Given the description of an element on the screen output the (x, y) to click on. 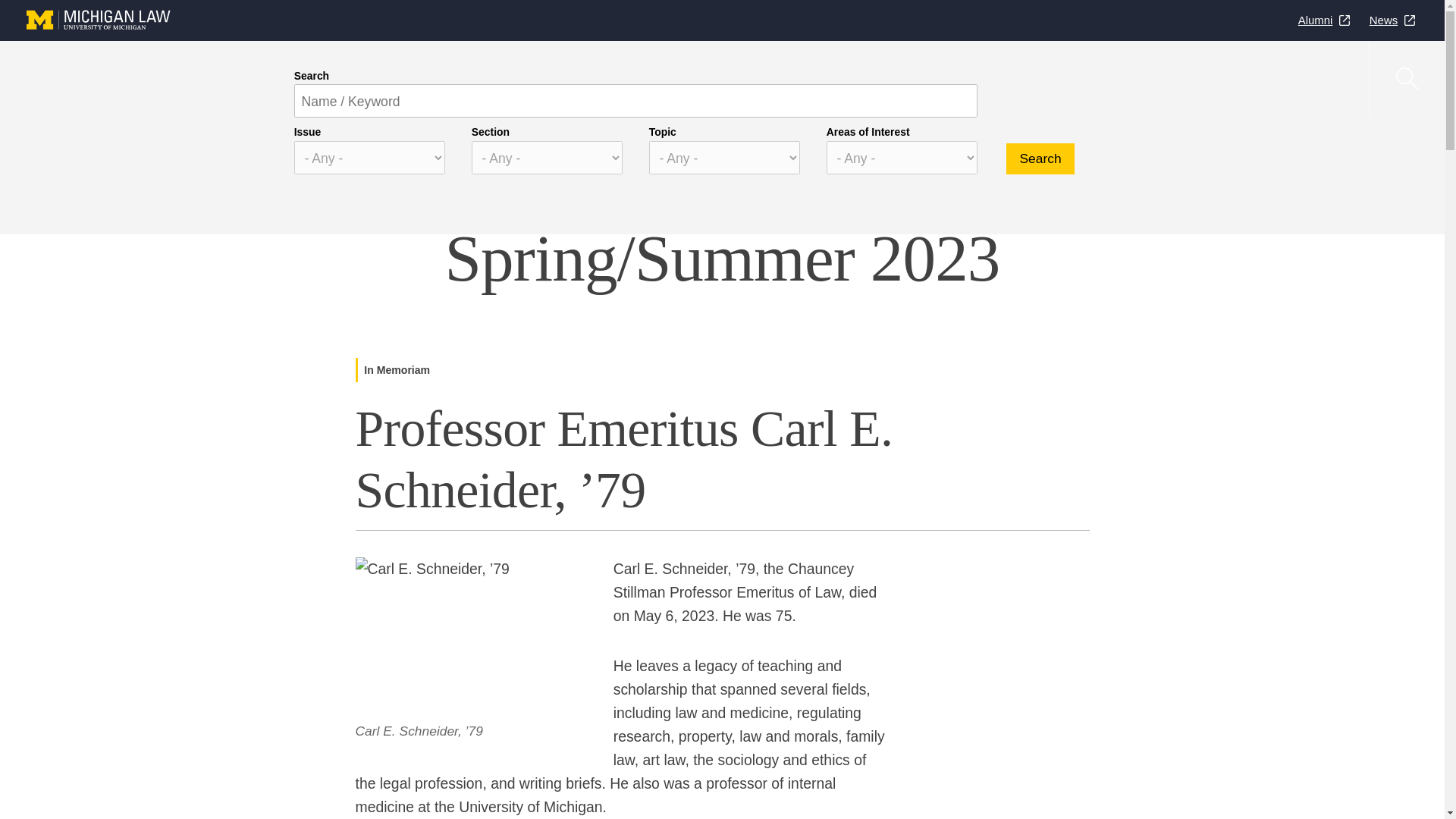
Home (310, 142)
In Memoriam (992, 79)
News (1392, 19)
Class Notes (900, 79)
Alumni (1324, 19)
Back to Issue (343, 175)
Search keywords (635, 100)
Search (1040, 158)
Issues (431, 79)
Search (1040, 158)
